Given the description of an element on the screen output the (x, y) to click on. 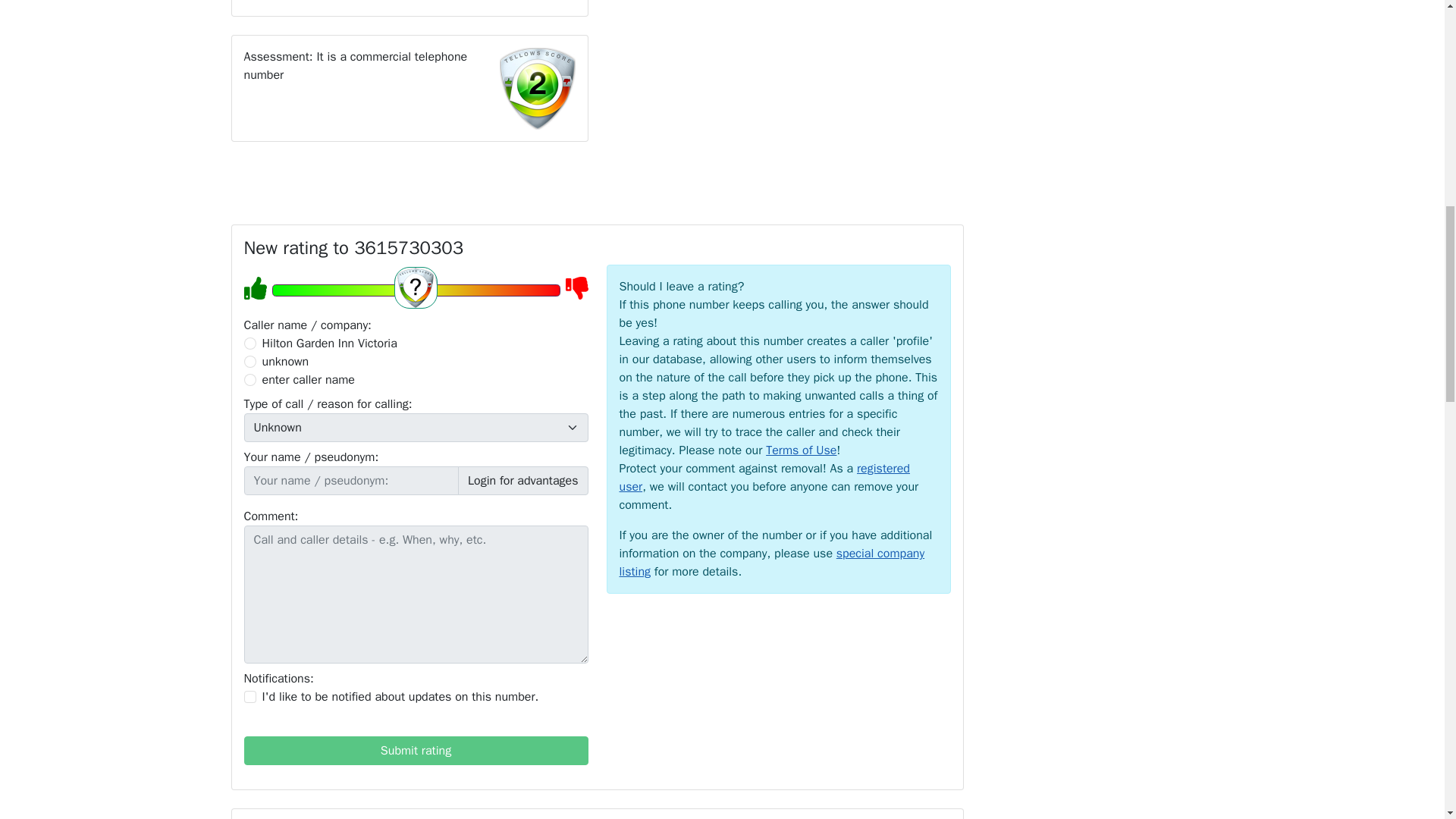
registered user (763, 477)
3 (250, 379)
5 (414, 290)
special company listing (771, 562)
Submit rating (416, 750)
1 (250, 696)
Submit rating (416, 750)
Terms of Use (800, 450)
0 (250, 343)
2 (250, 361)
